Given the description of an element on the screen output the (x, y) to click on. 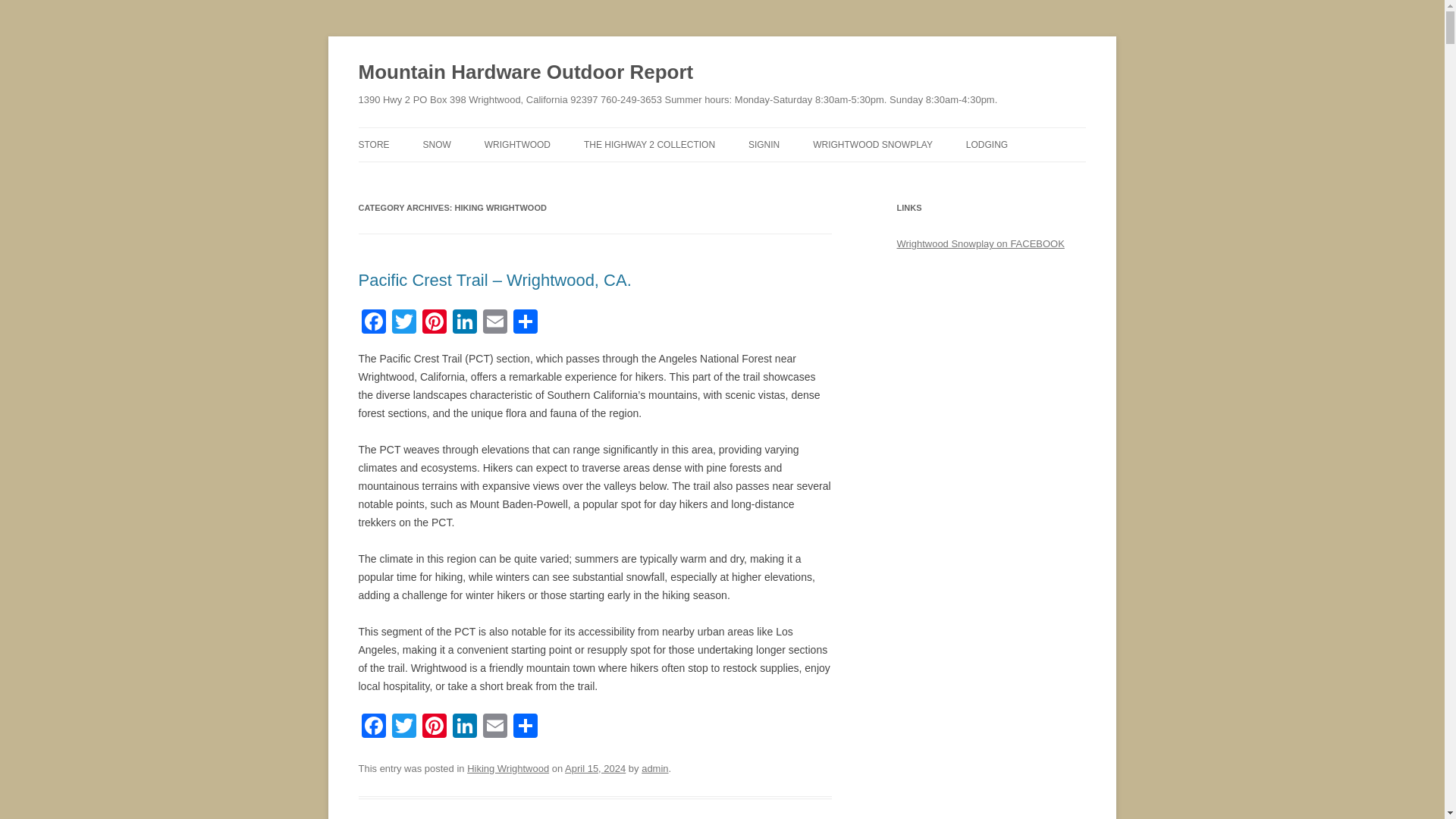
LinkedIn (463, 727)
Facebook (373, 323)
Email (494, 323)
EQUIPMENT RENTALS (433, 176)
Pinterest (433, 323)
Facebook (373, 727)
SIGNIN (763, 144)
Pinterest (433, 727)
Facebook (373, 323)
SNOW (437, 144)
Mountain Hardware (373, 144)
Email (494, 727)
WRIGHTWOOD (517, 144)
LinkedIn (463, 323)
